Given the description of an element on the screen output the (x, y) to click on. 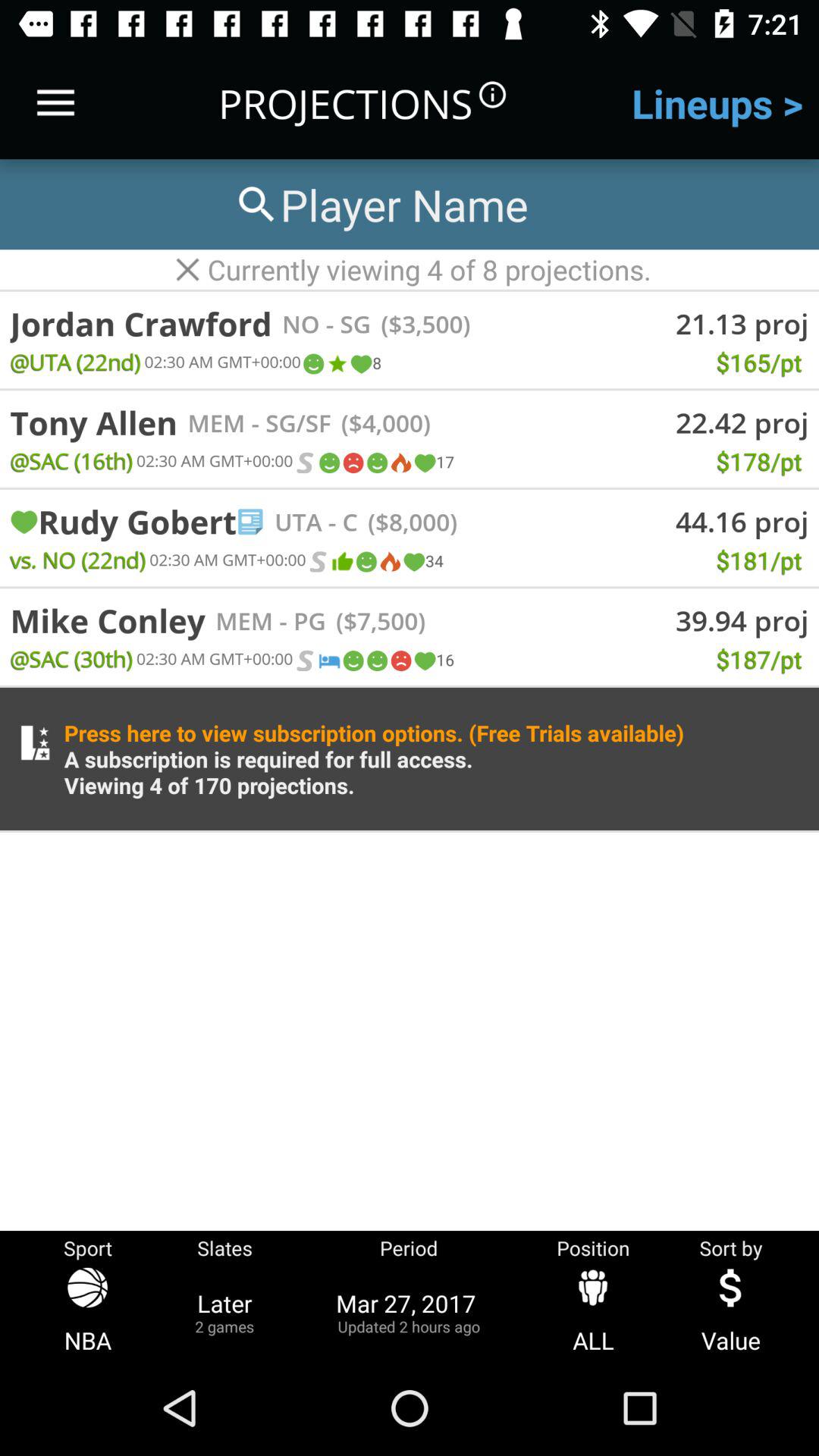
turn on item to the left of the rudy gobert icon (24, 521)
